Given the description of an element on the screen output the (x, y) to click on. 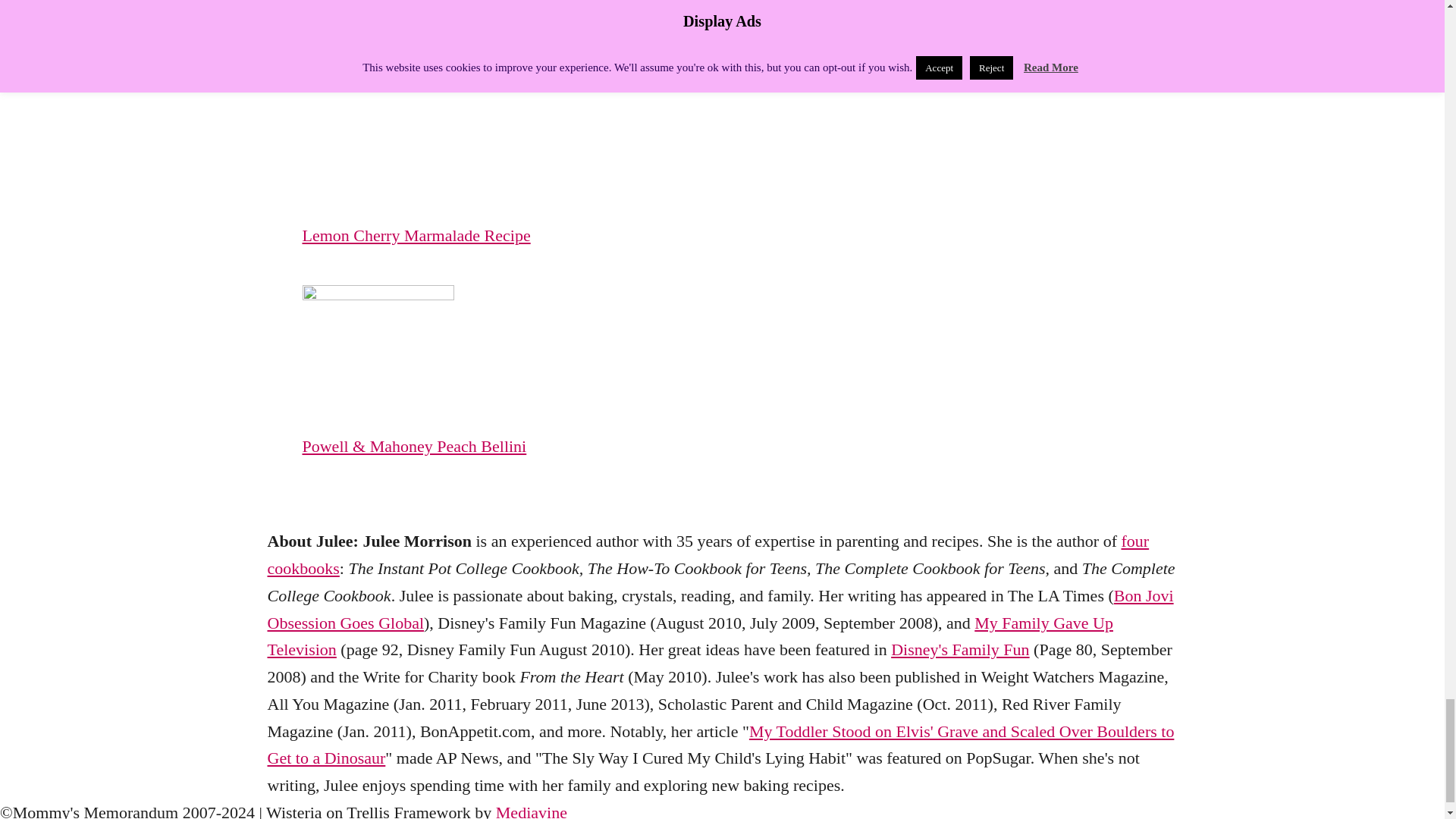
My Family Gave Up Television (689, 636)
Home (321, 3)
Disney's Family Fun (960, 649)
Bon Jovi Obsession Goes Global (719, 609)
Review (384, 3)
four cookbooks (707, 554)
Lemon Cherry Marmalade Recipe (577, 235)
